Given the description of an element on the screen output the (x, y) to click on. 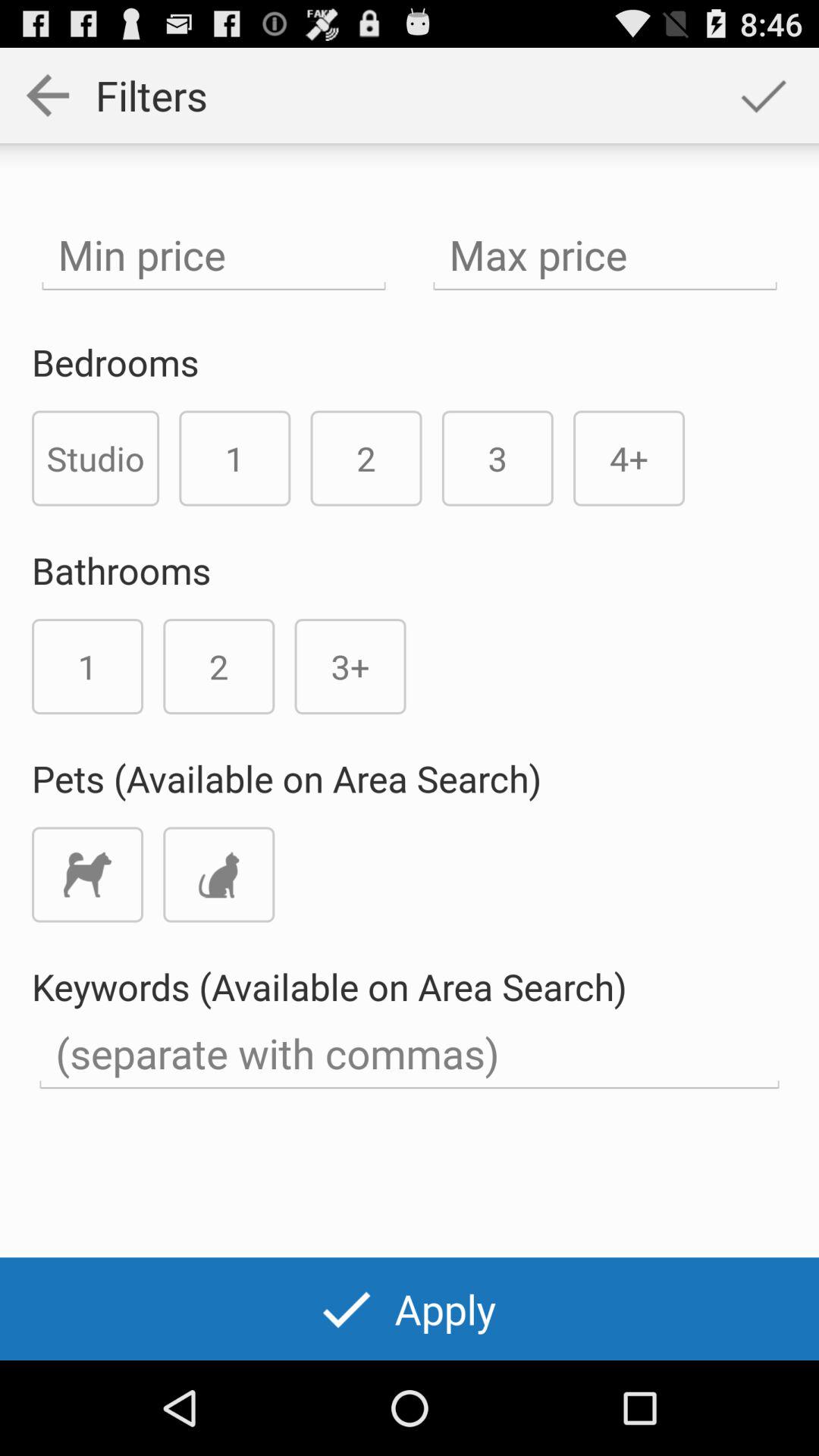
choose item above the keywords available on item (87, 874)
